Given the description of an element on the screen output the (x, y) to click on. 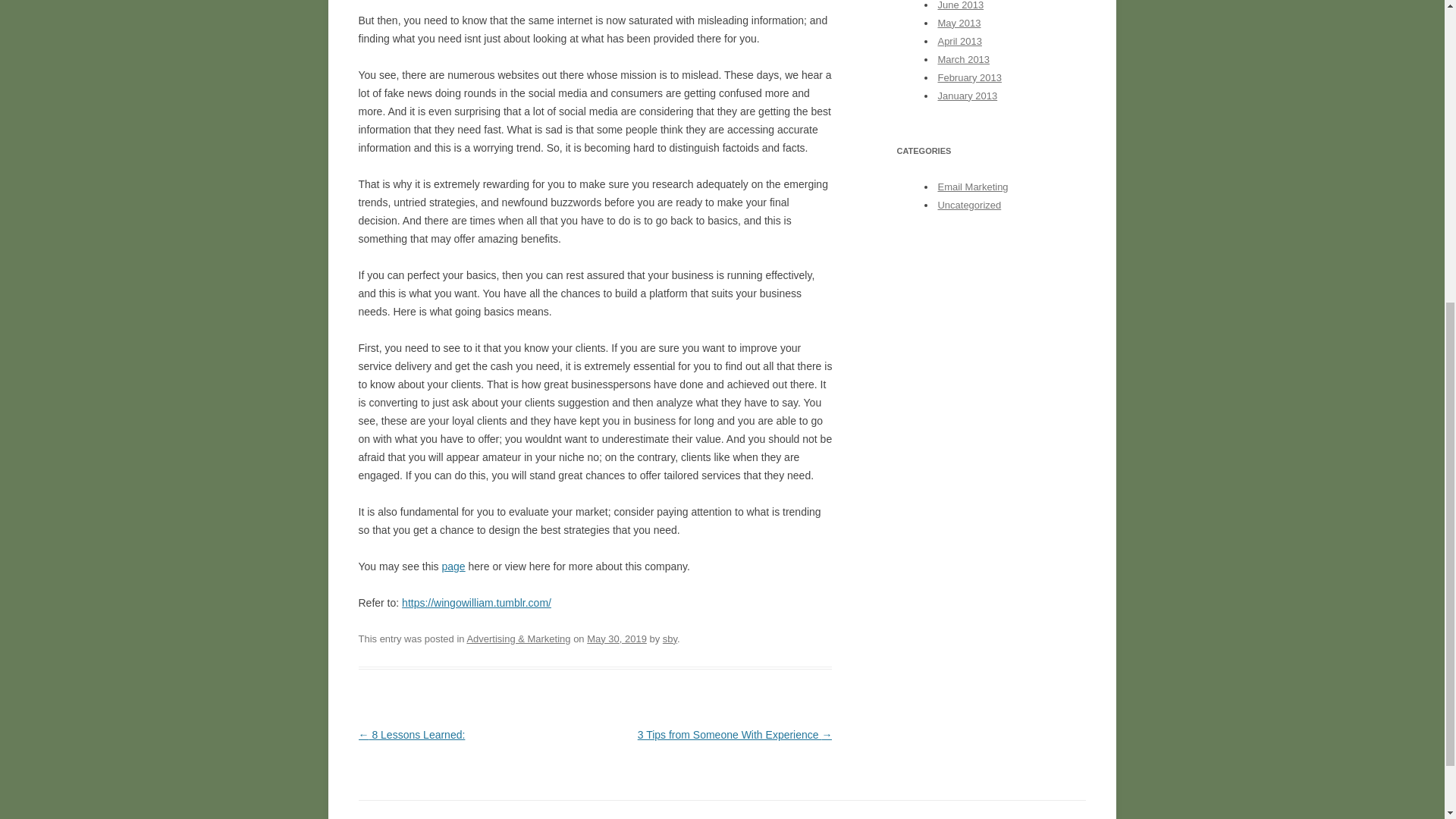
Email Marketing (972, 186)
May 2013 (958, 22)
February 2013 (969, 77)
View all posts filed under Email Marketing (972, 186)
sby (669, 638)
January 2013 (967, 95)
April 2013 (959, 41)
page (452, 566)
February 2013 (969, 77)
March 2013 (963, 59)
